Given the description of an element on the screen output the (x, y) to click on. 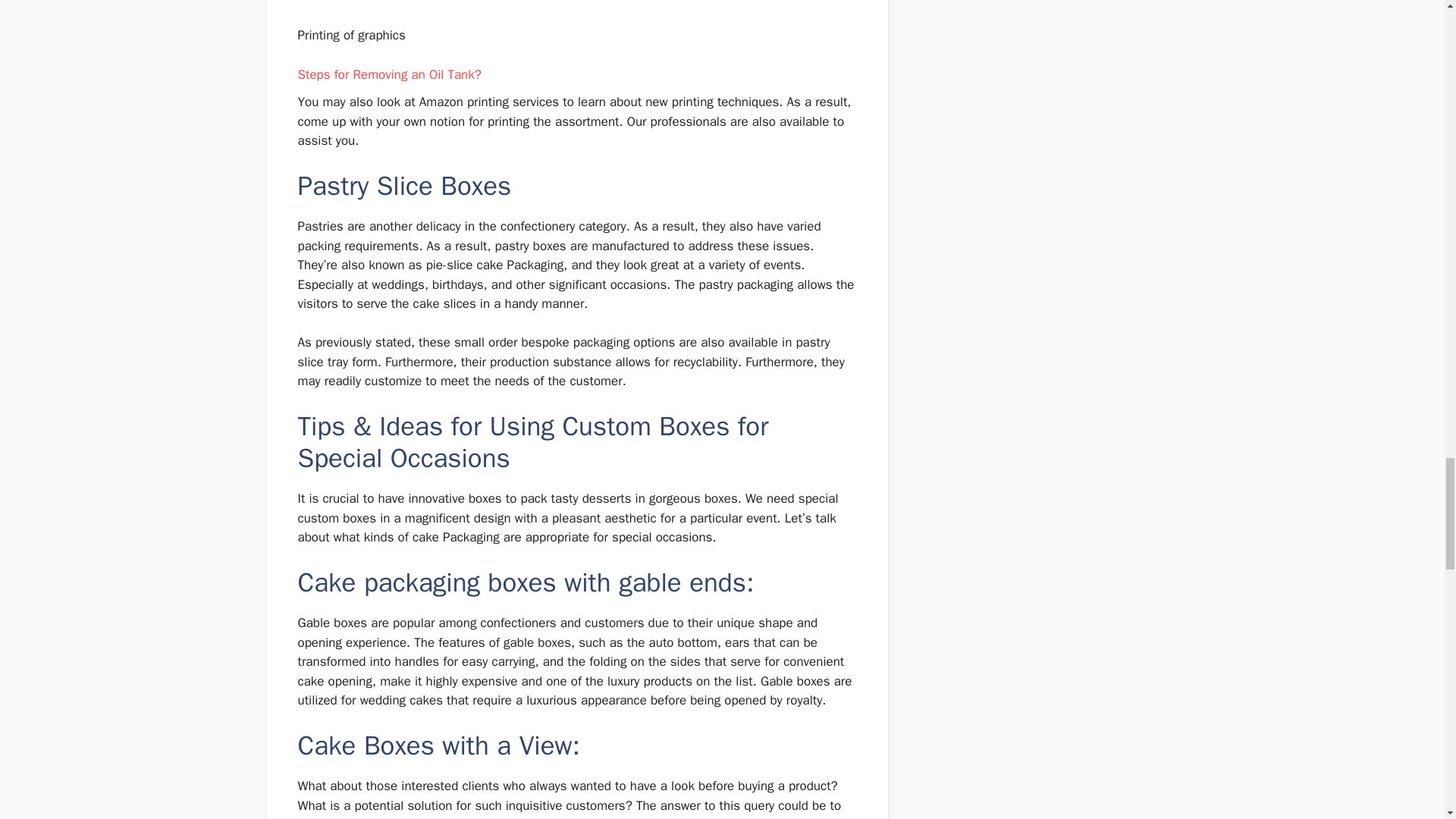
Advertisement (577, 7)
Steps for Removing an Oil Tank? (388, 74)
